Given the description of an element on the screen output the (x, y) to click on. 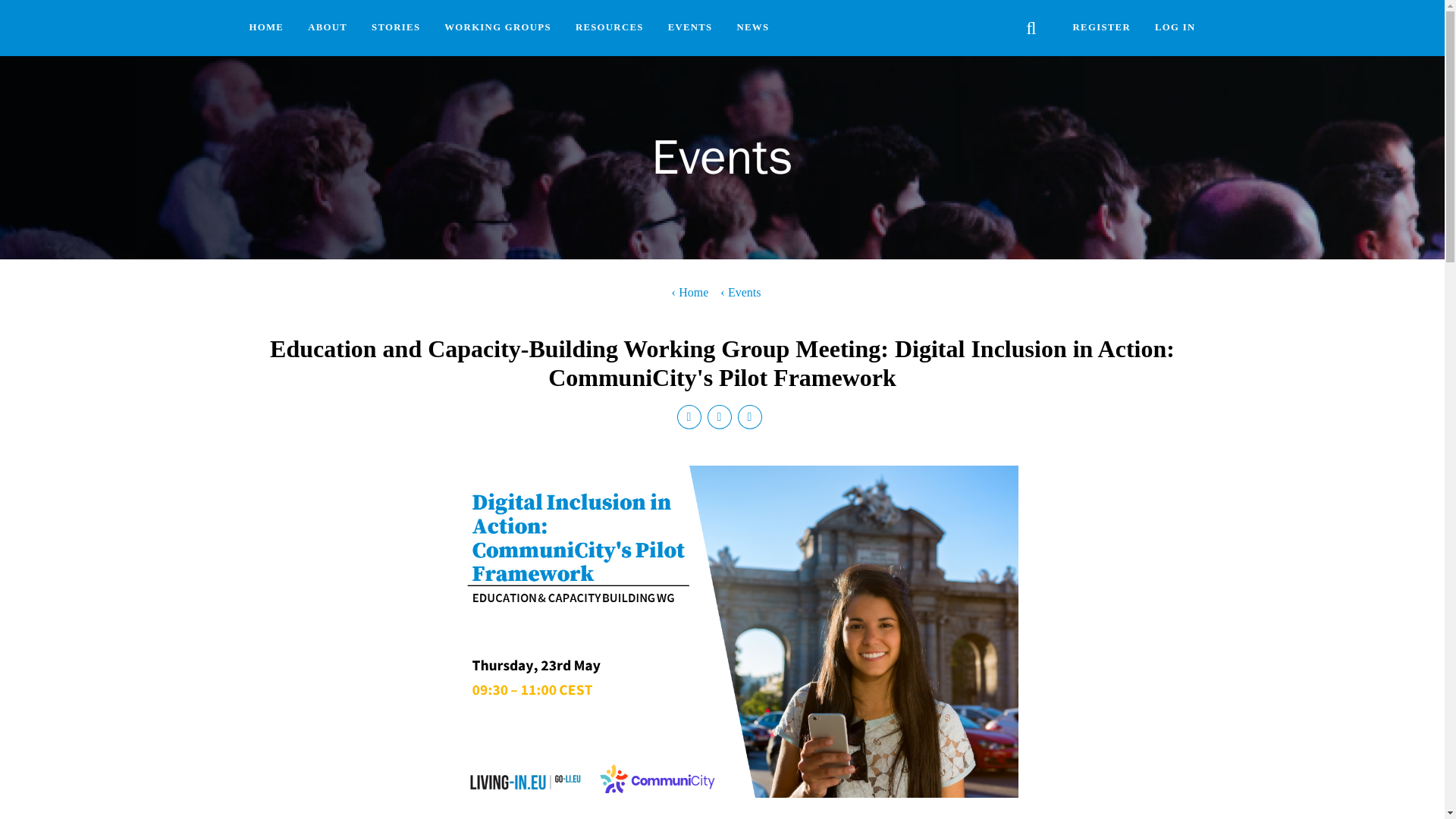
WORKING GROUPS (497, 28)
STORIES (395, 28)
EVENTS (690, 28)
NEWS (753, 28)
Share on LinkedIn (691, 419)
Home (690, 292)
HOME (265, 28)
LOG IN (1175, 28)
RESOURCES (609, 28)
REGISTER (1101, 28)
Twitter (721, 419)
Email (751, 419)
Share via email (751, 419)
LinkedIn (691, 419)
